Given the description of an element on the screen output the (x, y) to click on. 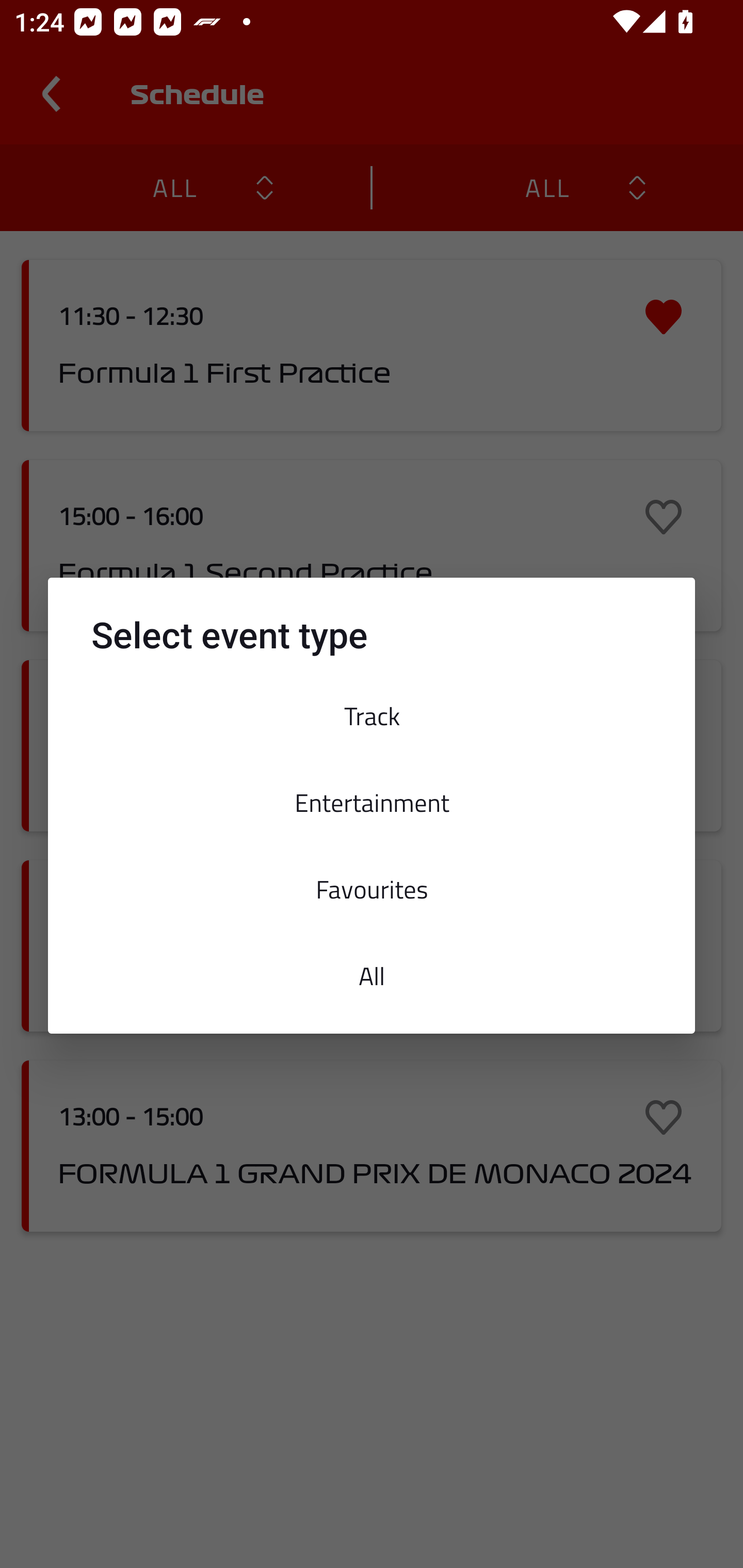
Track (371, 715)
Entertainment (371, 801)
Favourites (371, 888)
All (371, 975)
